Given the description of an element on the screen output the (x, y) to click on. 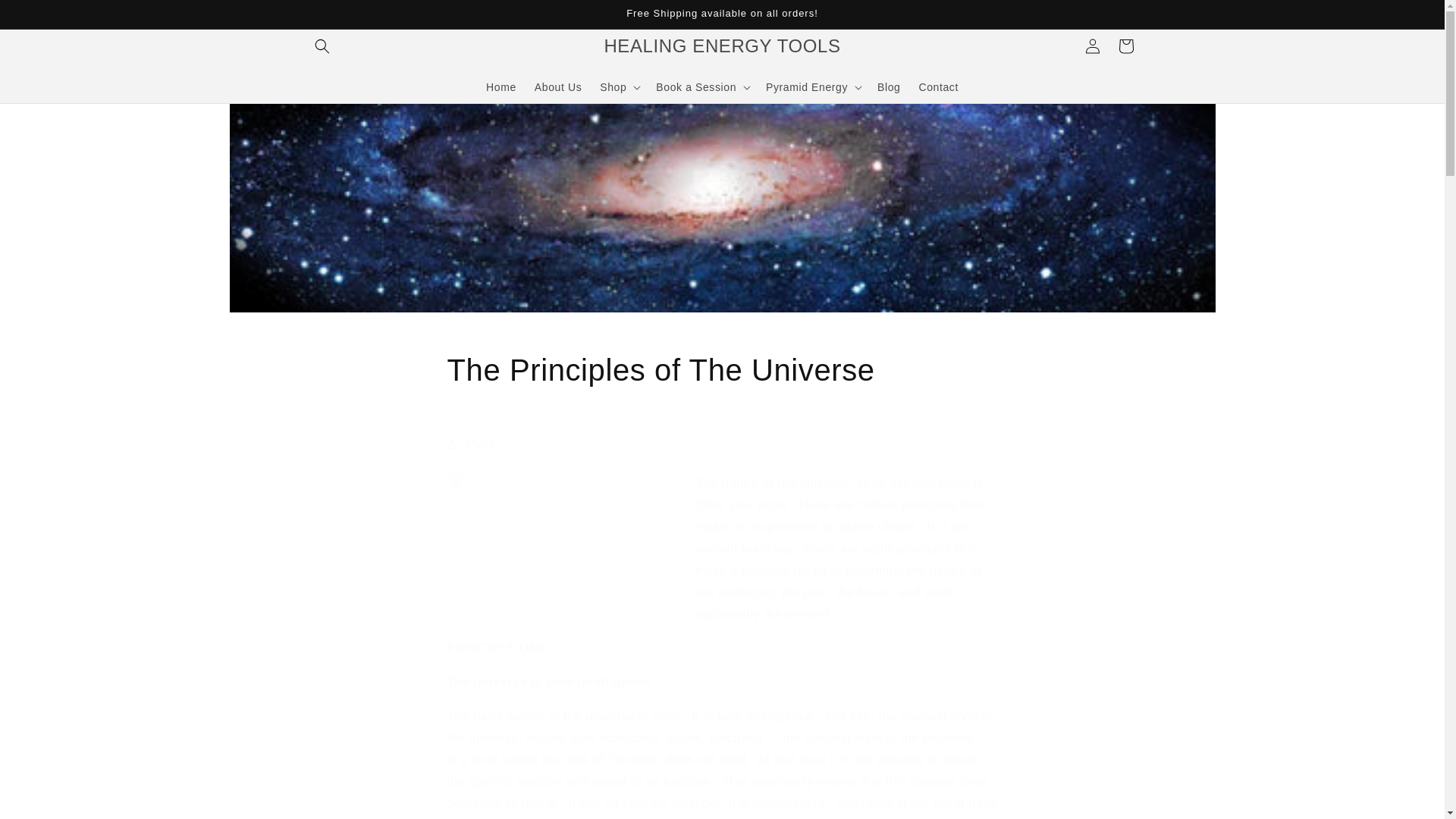
Skip to content (45, 17)
The Principles of The Universe (721, 369)
Share (721, 444)
